Given the description of an element on the screen output the (x, y) to click on. 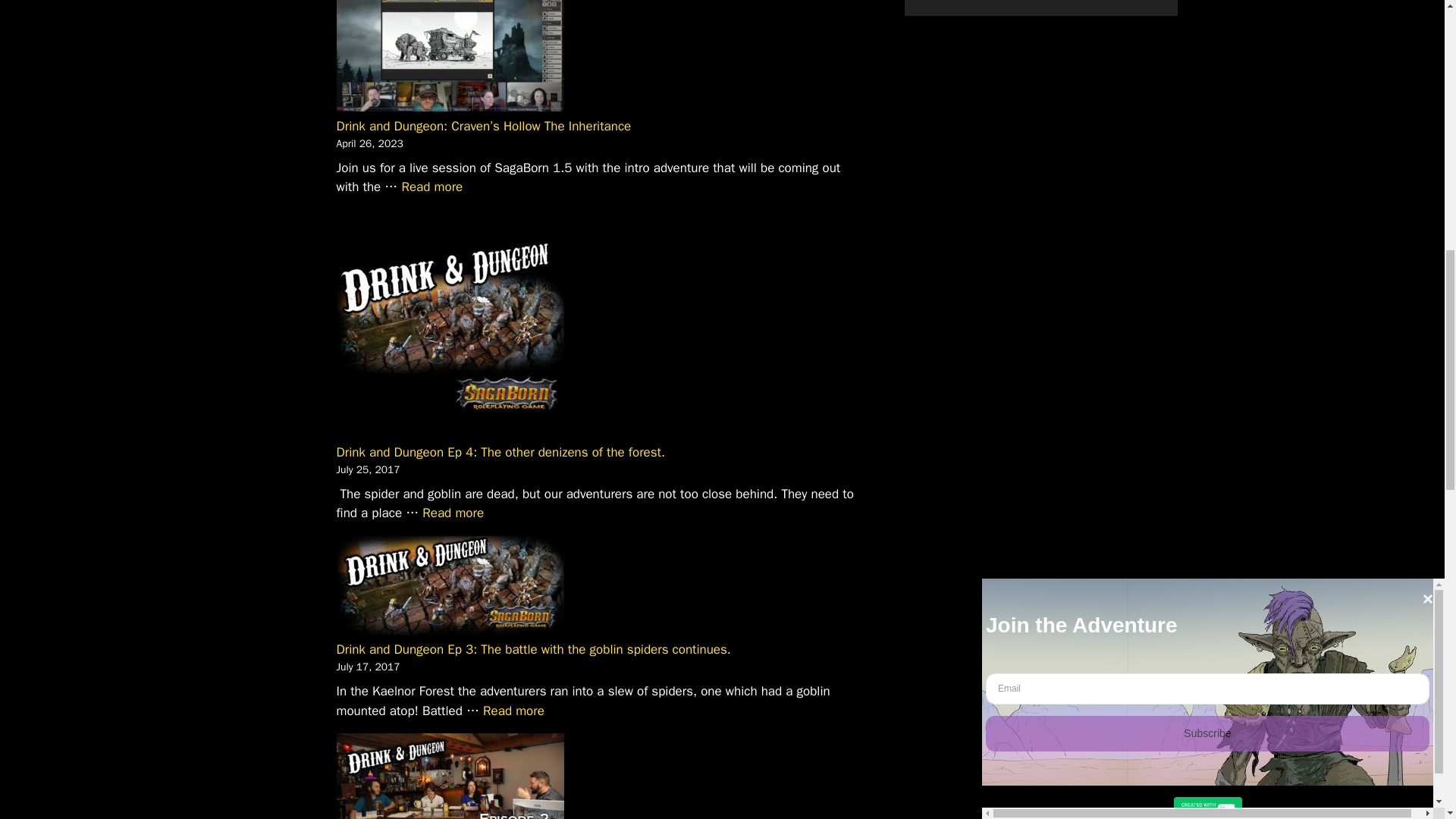
Read more (513, 710)
Drink and Dungeon Ep 4: The other denizens of the forest. (452, 512)
Read more (452, 512)
Read more (432, 186)
Drink and Dungeon Ep 4: The other denizens of the forest. (500, 452)
